Given the description of an element on the screen output the (x, y) to click on. 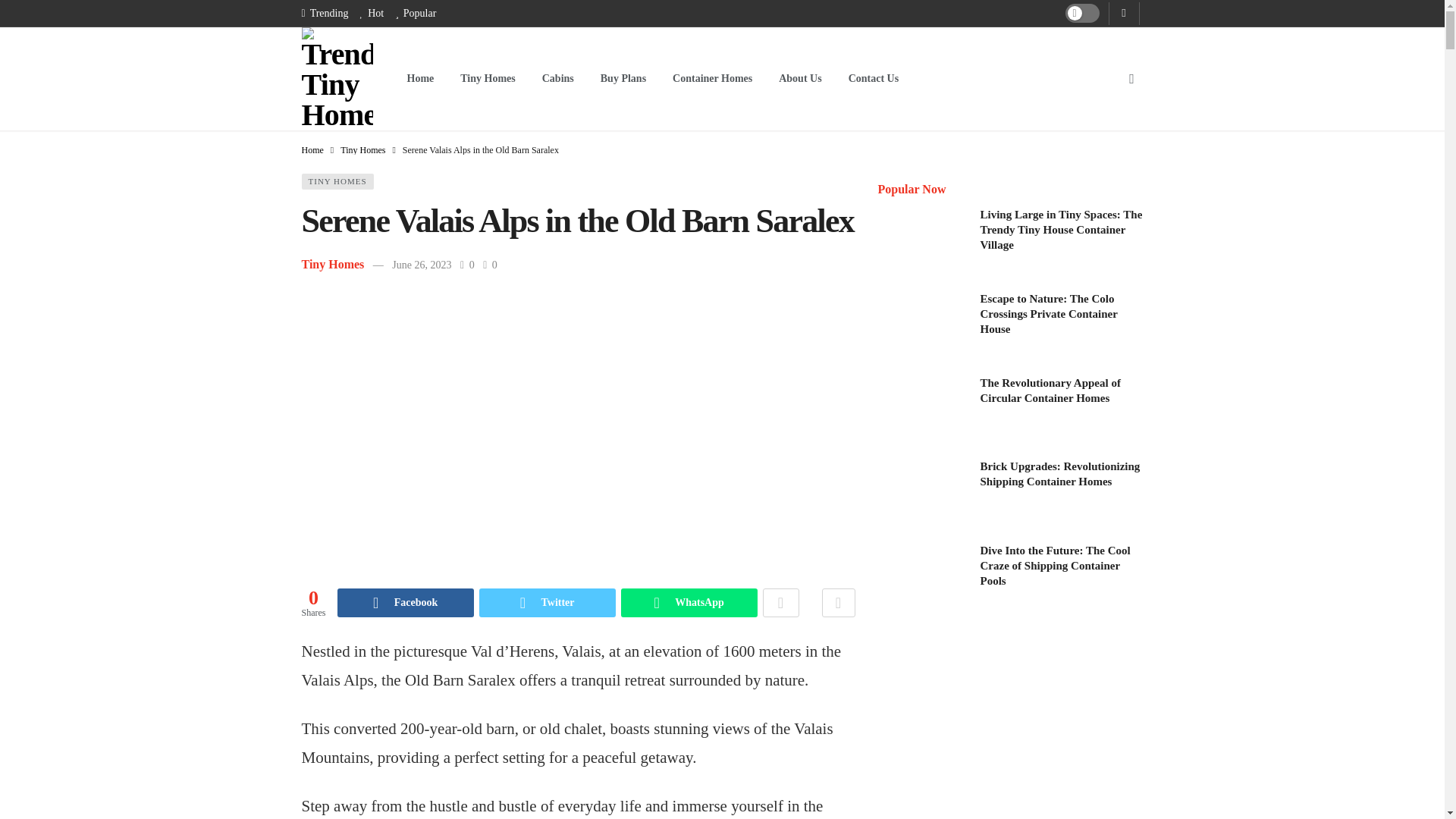
Home (420, 78)
0 (490, 265)
Tiny Homes (486, 78)
TINY HOMES (337, 181)
Home (312, 149)
Tiny Homes (333, 264)
Container Homes (711, 78)
Twitter (547, 602)
Add Bookmark (839, 602)
0 (468, 265)
